Given the description of an element on the screen output the (x, y) to click on. 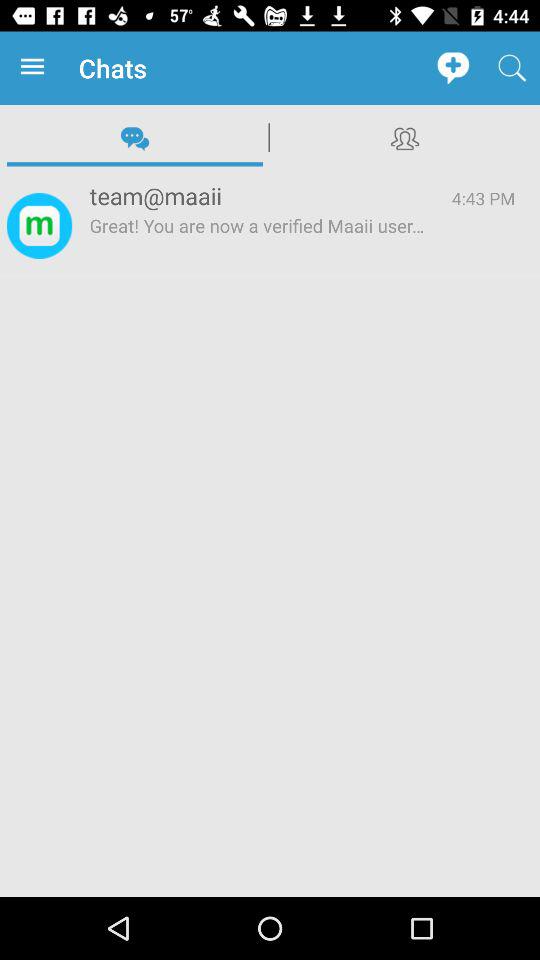
flip until the 4:43 pm item (483, 198)
